Given the description of an element on the screen output the (x, y) to click on. 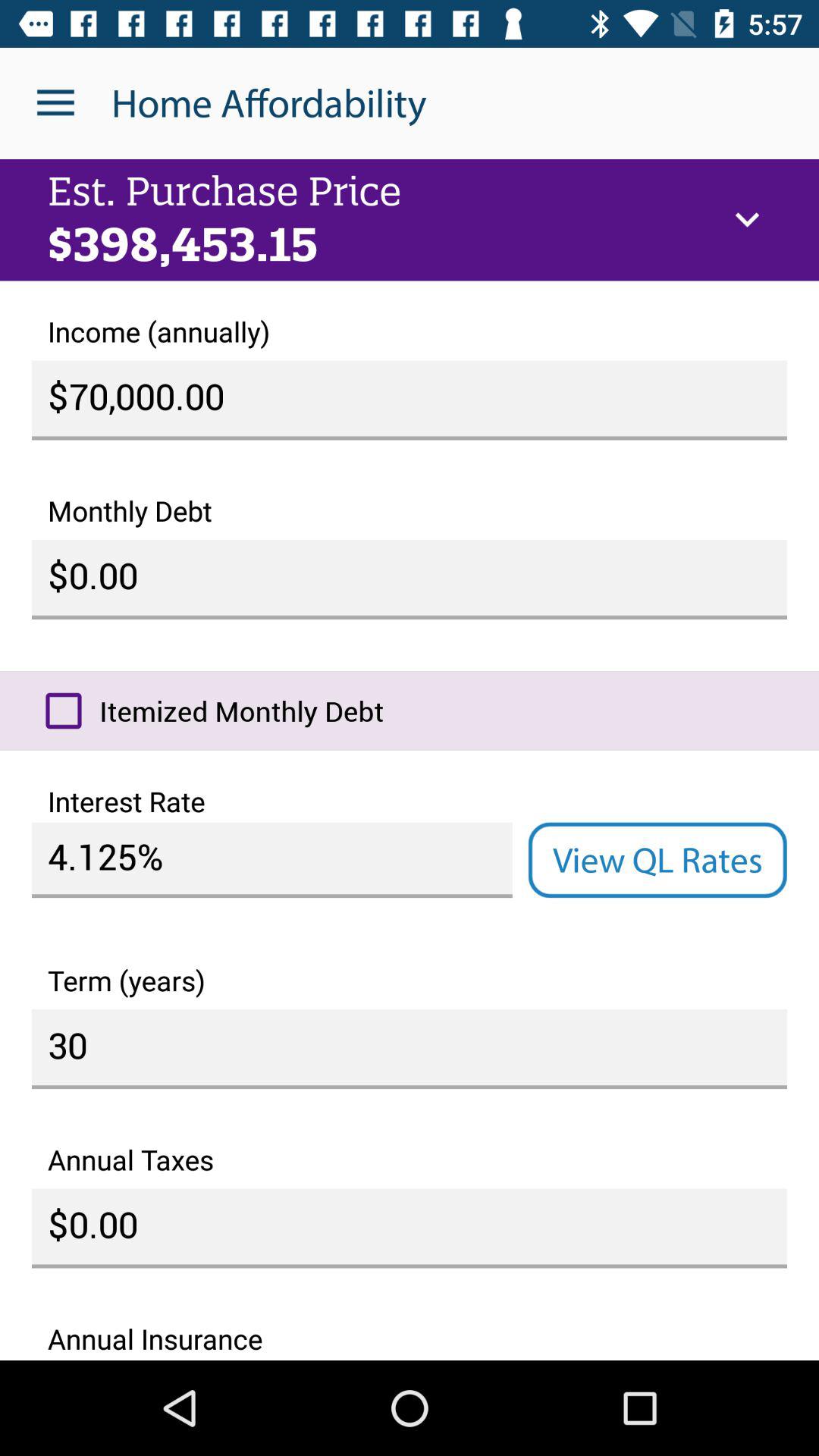
tap the item next to the view ql rates (271, 860)
